Given the description of an element on the screen output the (x, y) to click on. 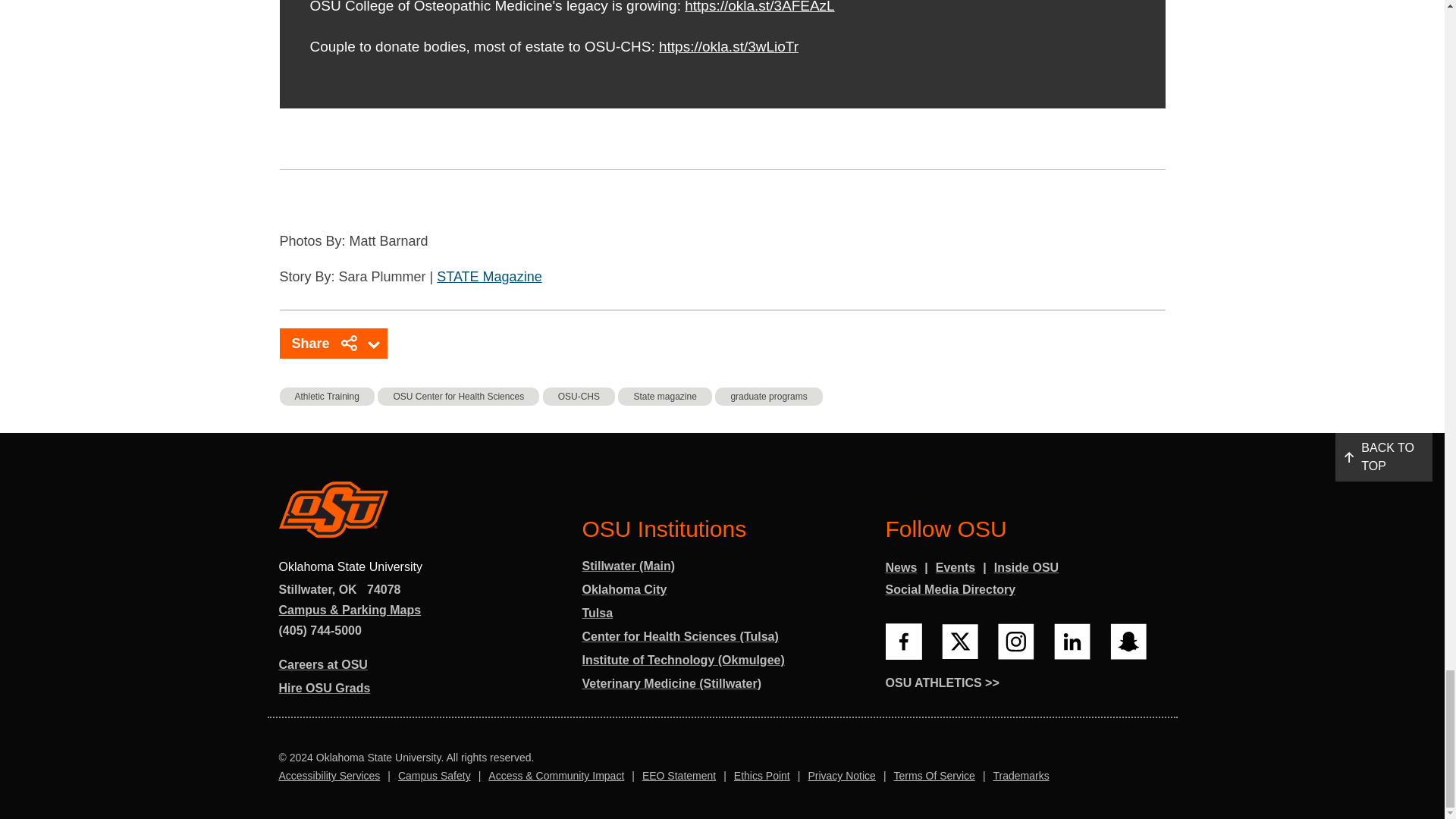
Stillwater, OK 74078 (340, 590)
Oklahoma (347, 590)
